Given the description of an element on the screen output the (x, y) to click on. 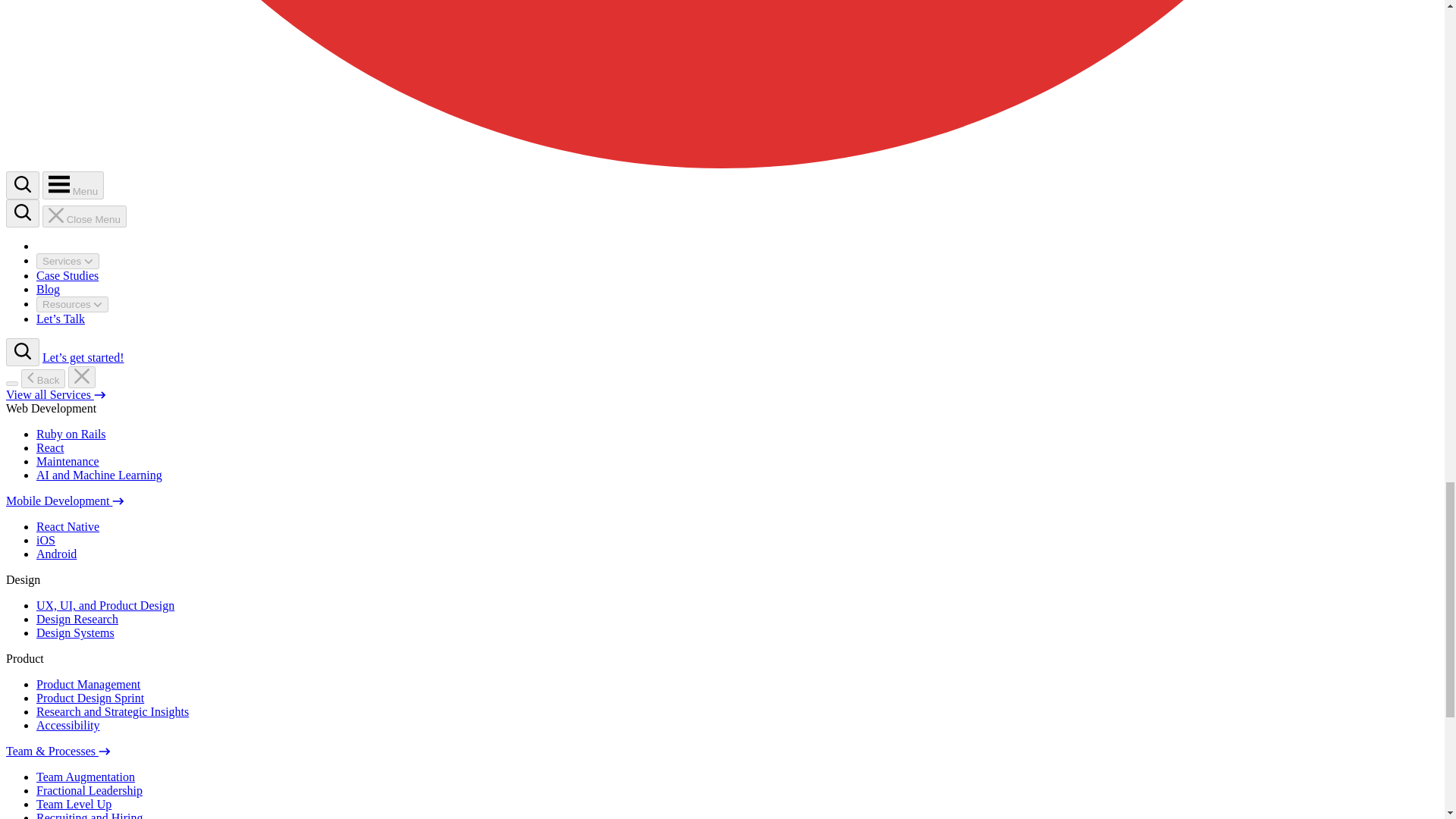
Recruiting and Hiring (89, 815)
Search thoughtbot.com (22, 350)
Product Management (87, 684)
Search thoughtbot.com (22, 213)
AI and Machine Learning (98, 474)
Design Systems (75, 632)
Product Design Sprint (90, 697)
Maintenance (67, 461)
UX, UI, and Product Design (105, 604)
Services (67, 261)
Research and Strategic Insights (112, 711)
React (50, 447)
Search thoughtbot.com (22, 185)
Design Research (76, 618)
Search thoughtbot.com (22, 183)
